Given the description of an element on the screen output the (x, y) to click on. 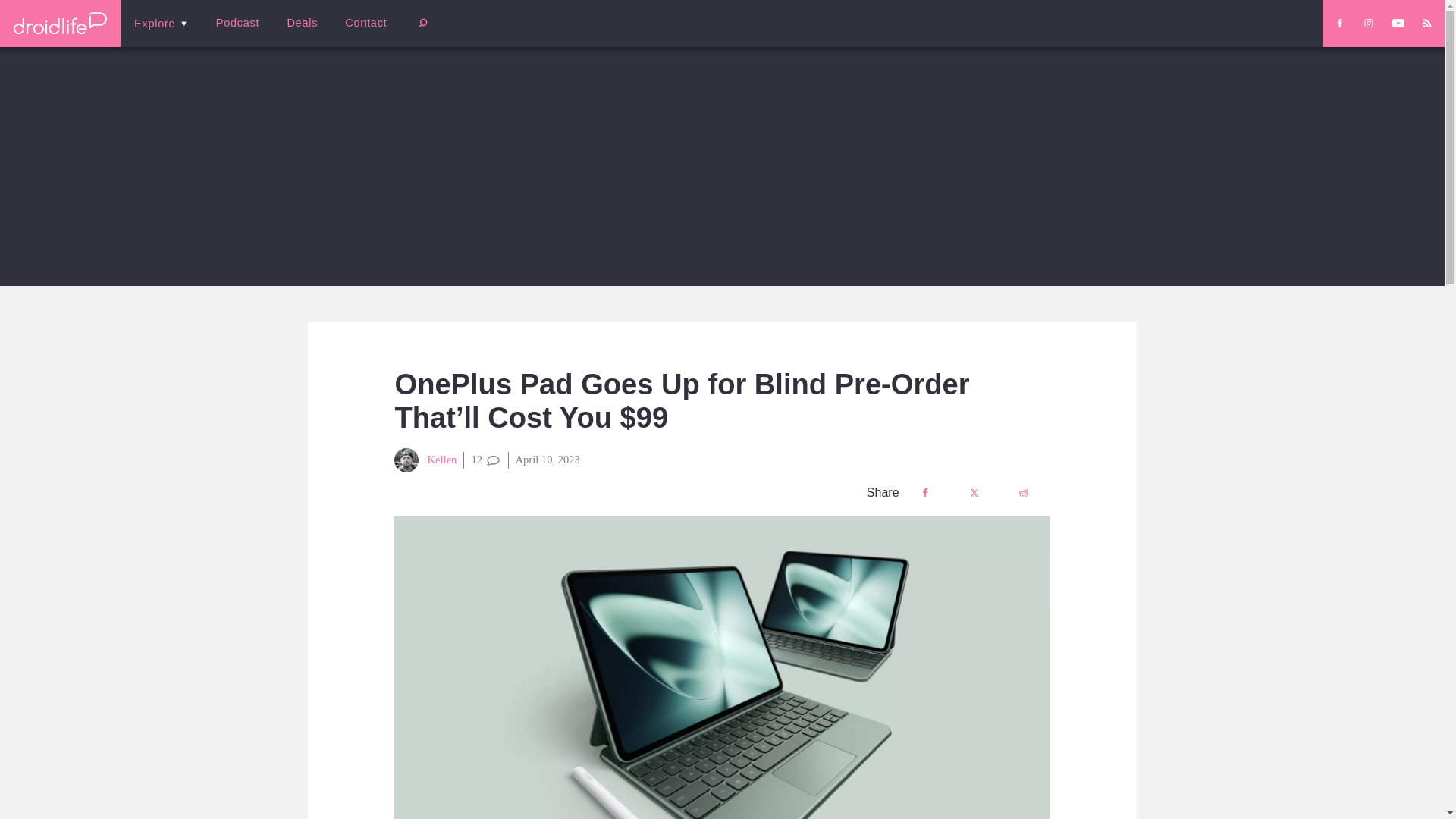
Droid Life on YouTube (1398, 23)
Droid Life on Facebook (1339, 23)
Kellen (425, 459)
Podcast (237, 23)
Deals (302, 23)
Beginners' Guide (360, 33)
Droid Life RSS (1426, 23)
Explore (161, 23)
Droid Life on Instagram (1368, 23)
Contact (365, 23)
